Given the description of an element on the screen output the (x, y) to click on. 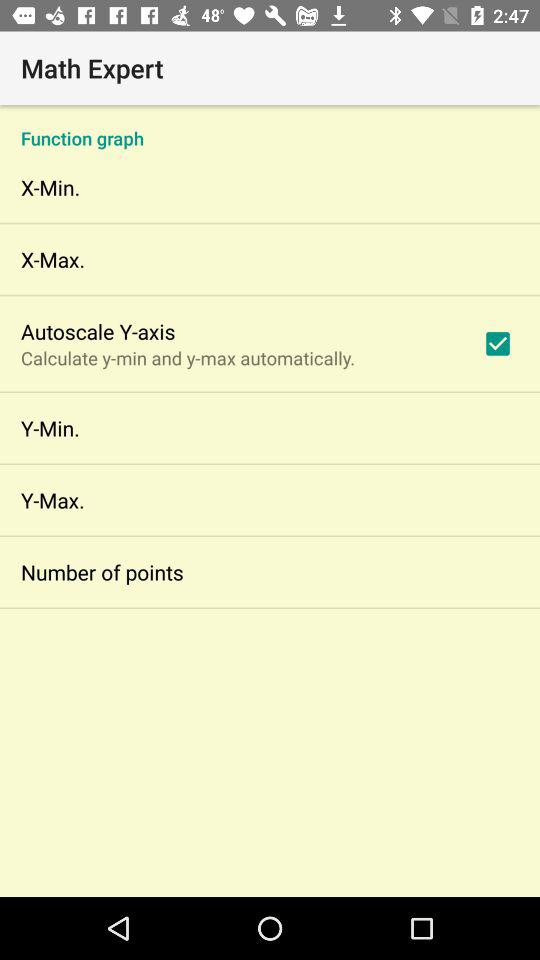
press the item on the right (497, 343)
